Given the description of an element on the screen output the (x, y) to click on. 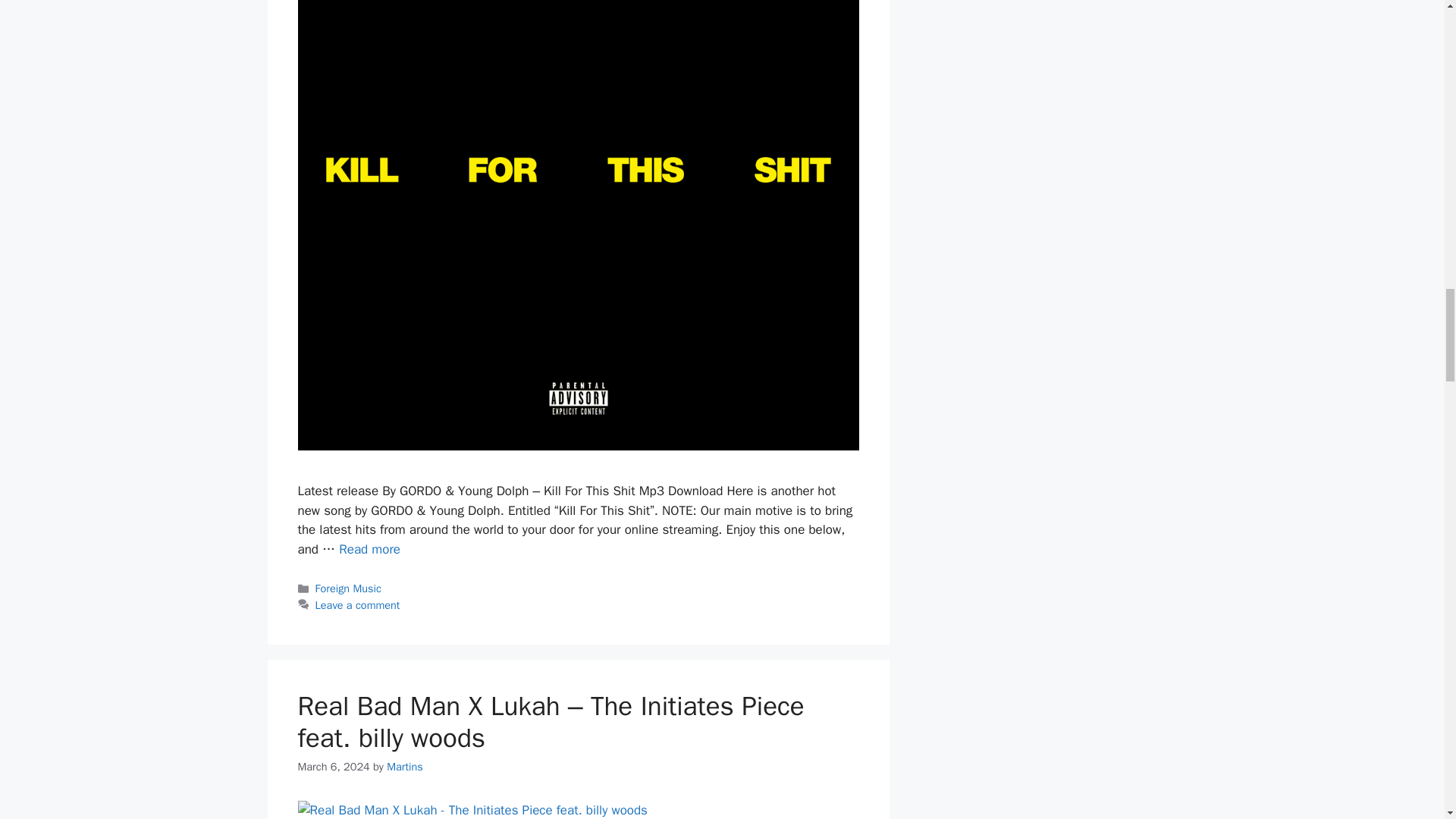
Martins (405, 766)
Leave a comment (357, 604)
Read more (369, 549)
View all posts by Martins (405, 766)
Foreign Music (348, 588)
